Given the description of an element on the screen output the (x, y) to click on. 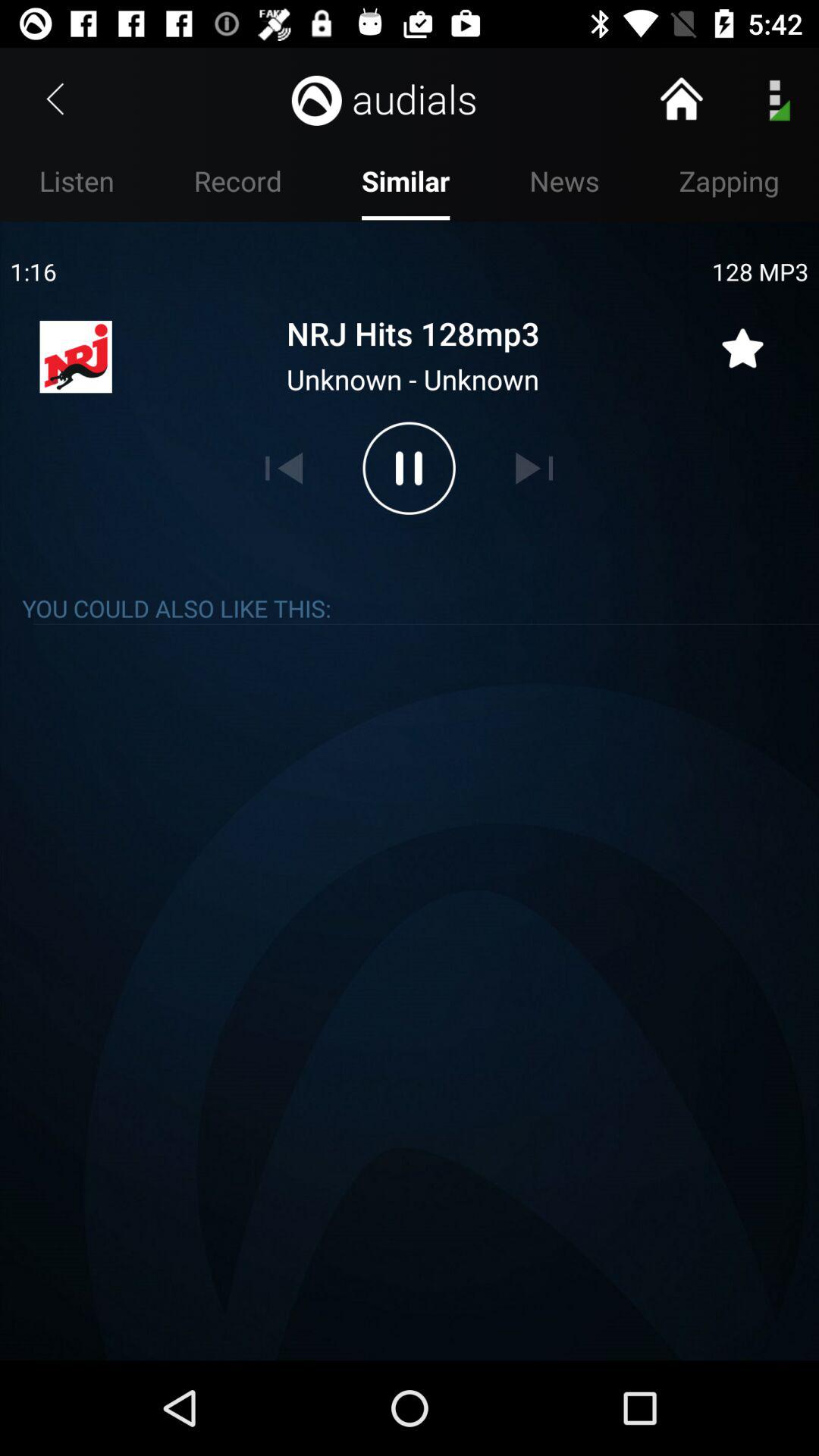
go home (681, 98)
